Given the description of an element on the screen output the (x, y) to click on. 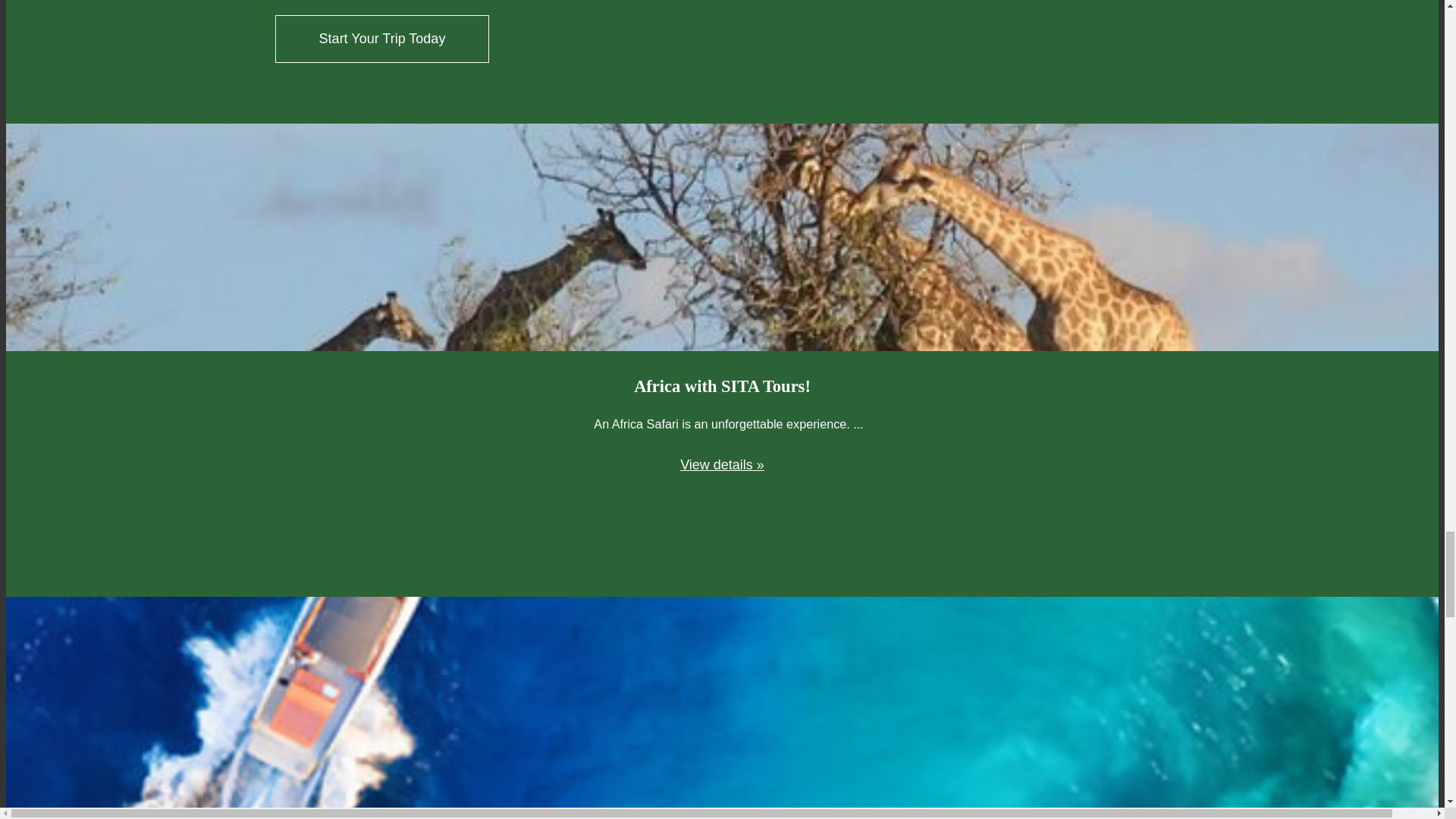
Start Your Trip Today (382, 39)
